Given the description of an element on the screen output the (x, y) to click on. 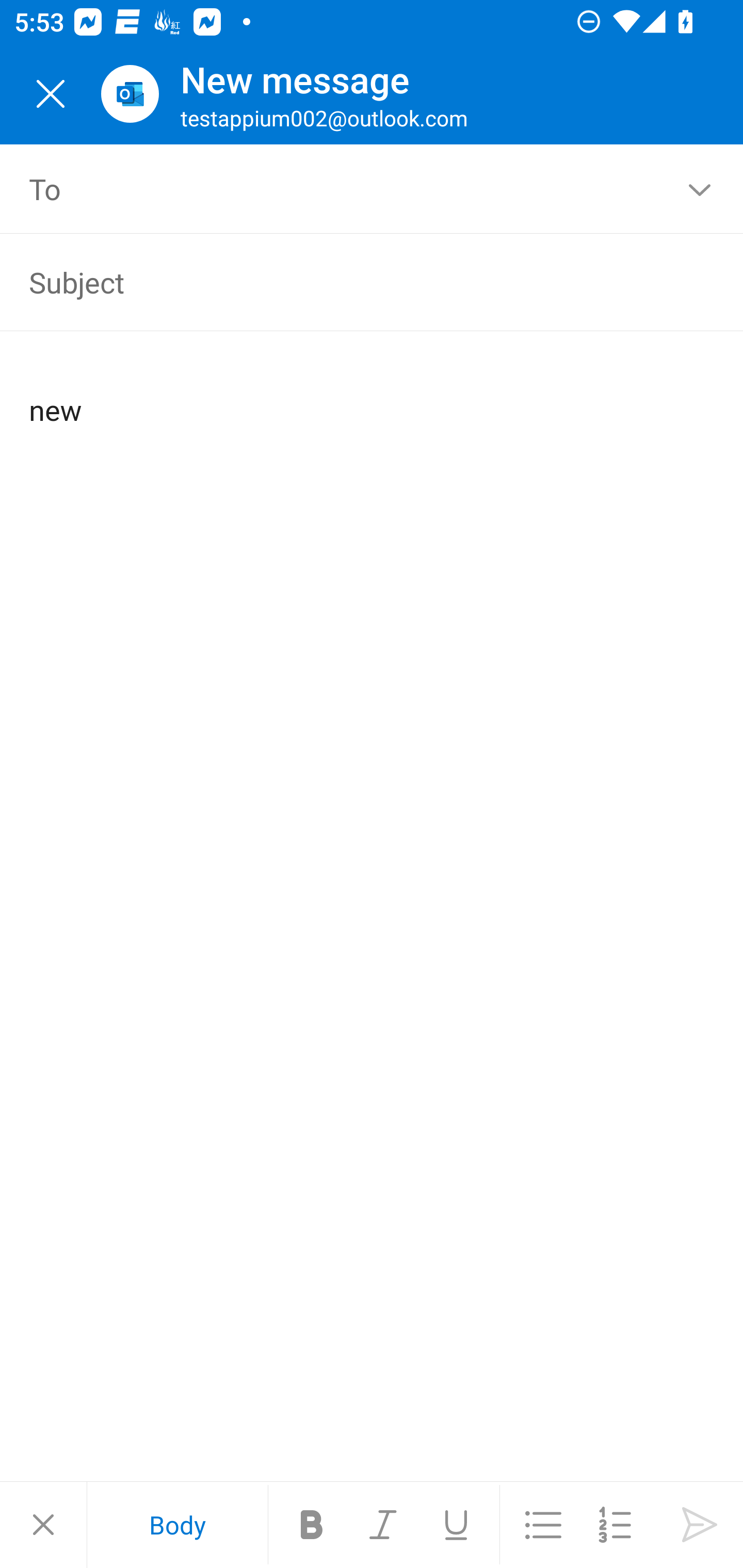
Close (50, 93)
Subject (342, 281)

new (372, 394)
Close (43, 1524)
Send (699, 1524)
Font style button body Body (176, 1524)
Bold (311, 1524)
Italics (384, 1524)
Underline (456, 1524)
Bulleted list (543, 1524)
Numbered list (615, 1524)
